Given the description of an element on the screen output the (x, y) to click on. 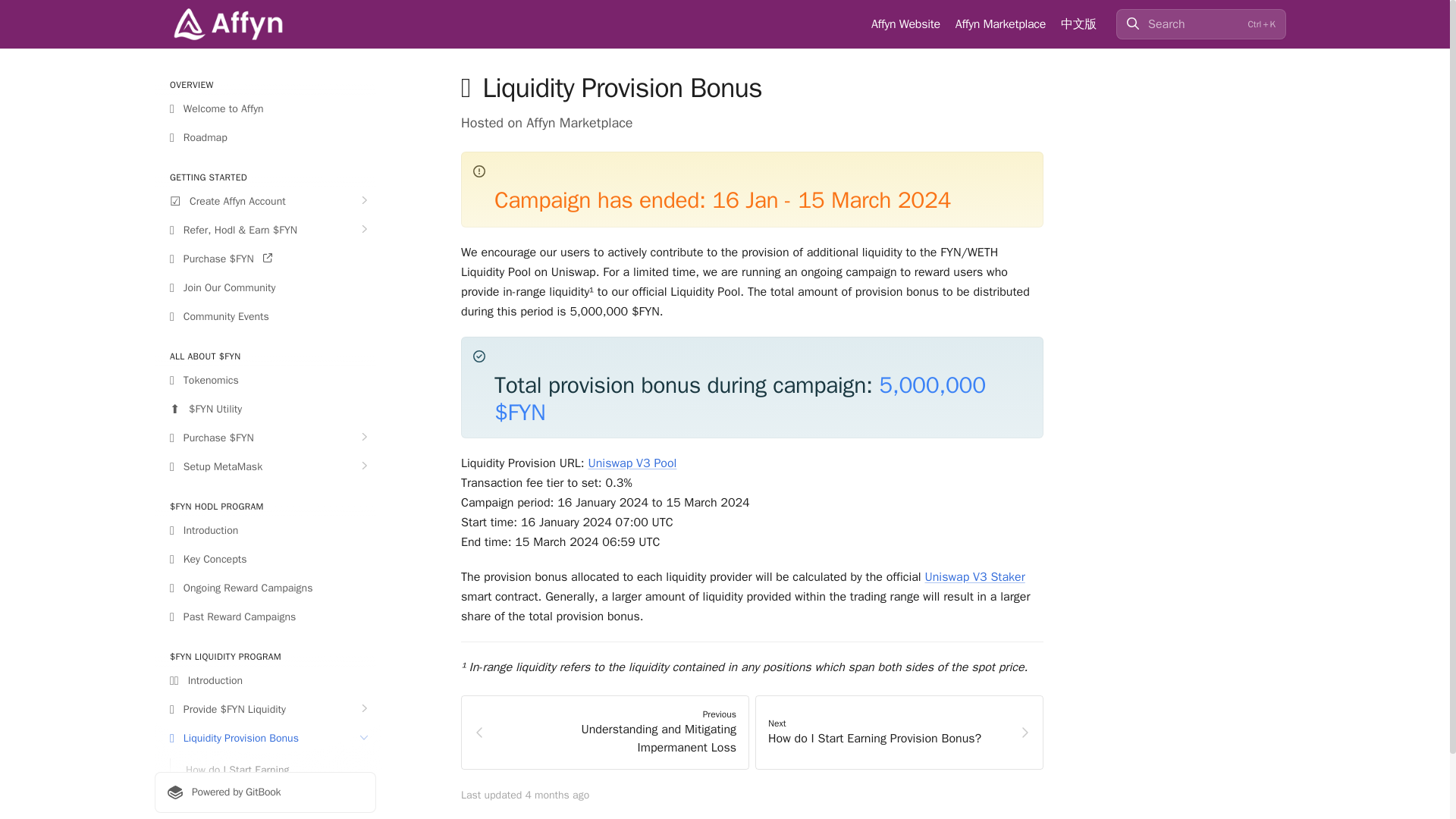
Affyn Marketplace (1000, 24)
Affyn Website (905, 24)
How do I Start Earning Provision Bonus? (272, 777)
